Given the description of an element on the screen output the (x, y) to click on. 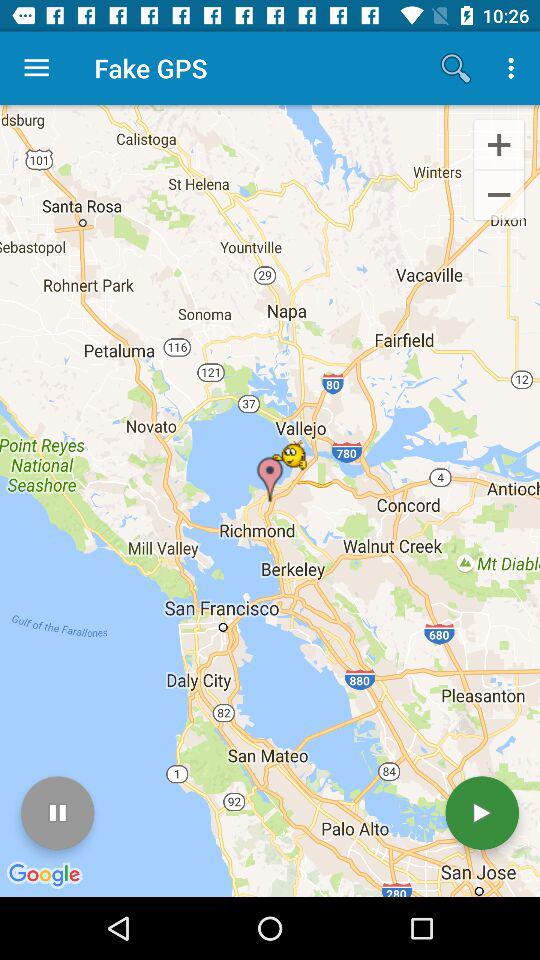
select the icon next to the fake gps icon (36, 68)
